Given the description of an element on the screen output the (x, y) to click on. 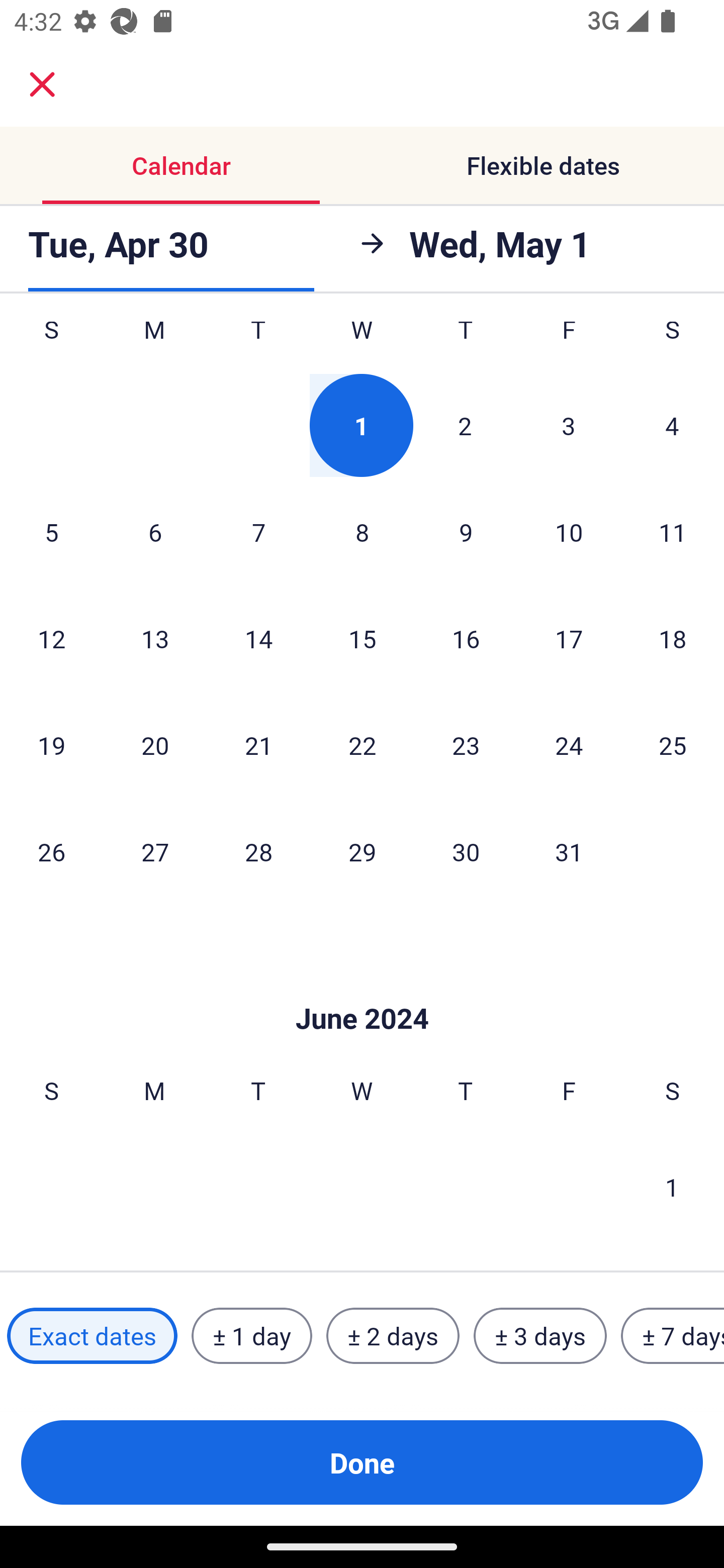
close. (42, 84)
Flexible dates (542, 164)
2 Thursday, May 2, 2024 (464, 424)
3 Friday, May 3, 2024 (568, 424)
4 Saturday, May 4, 2024 (672, 424)
5 Sunday, May 5, 2024 (51, 531)
6 Monday, May 6, 2024 (155, 531)
7 Tuesday, May 7, 2024 (258, 531)
8 Wednesday, May 8, 2024 (362, 531)
9 Thursday, May 9, 2024 (465, 531)
10 Friday, May 10, 2024 (569, 531)
11 Saturday, May 11, 2024 (672, 531)
12 Sunday, May 12, 2024 (51, 637)
13 Monday, May 13, 2024 (155, 637)
14 Tuesday, May 14, 2024 (258, 637)
15 Wednesday, May 15, 2024 (362, 637)
16 Thursday, May 16, 2024 (465, 637)
17 Friday, May 17, 2024 (569, 637)
18 Saturday, May 18, 2024 (672, 637)
19 Sunday, May 19, 2024 (51, 744)
20 Monday, May 20, 2024 (155, 744)
21 Tuesday, May 21, 2024 (258, 744)
22 Wednesday, May 22, 2024 (362, 744)
23 Thursday, May 23, 2024 (465, 744)
24 Friday, May 24, 2024 (569, 744)
25 Saturday, May 25, 2024 (672, 744)
26 Sunday, May 26, 2024 (51, 851)
27 Monday, May 27, 2024 (155, 851)
28 Tuesday, May 28, 2024 (258, 851)
29 Wednesday, May 29, 2024 (362, 851)
30 Thursday, May 30, 2024 (465, 851)
31 Friday, May 31, 2024 (569, 851)
Skip to Done (362, 988)
1 Saturday, June 1, 2024 (672, 1186)
Exact dates (92, 1335)
± 1 day (251, 1335)
± 2 days (392, 1335)
± 3 days (539, 1335)
± 7 days (672, 1335)
Done (361, 1462)
